Given the description of an element on the screen output the (x, y) to click on. 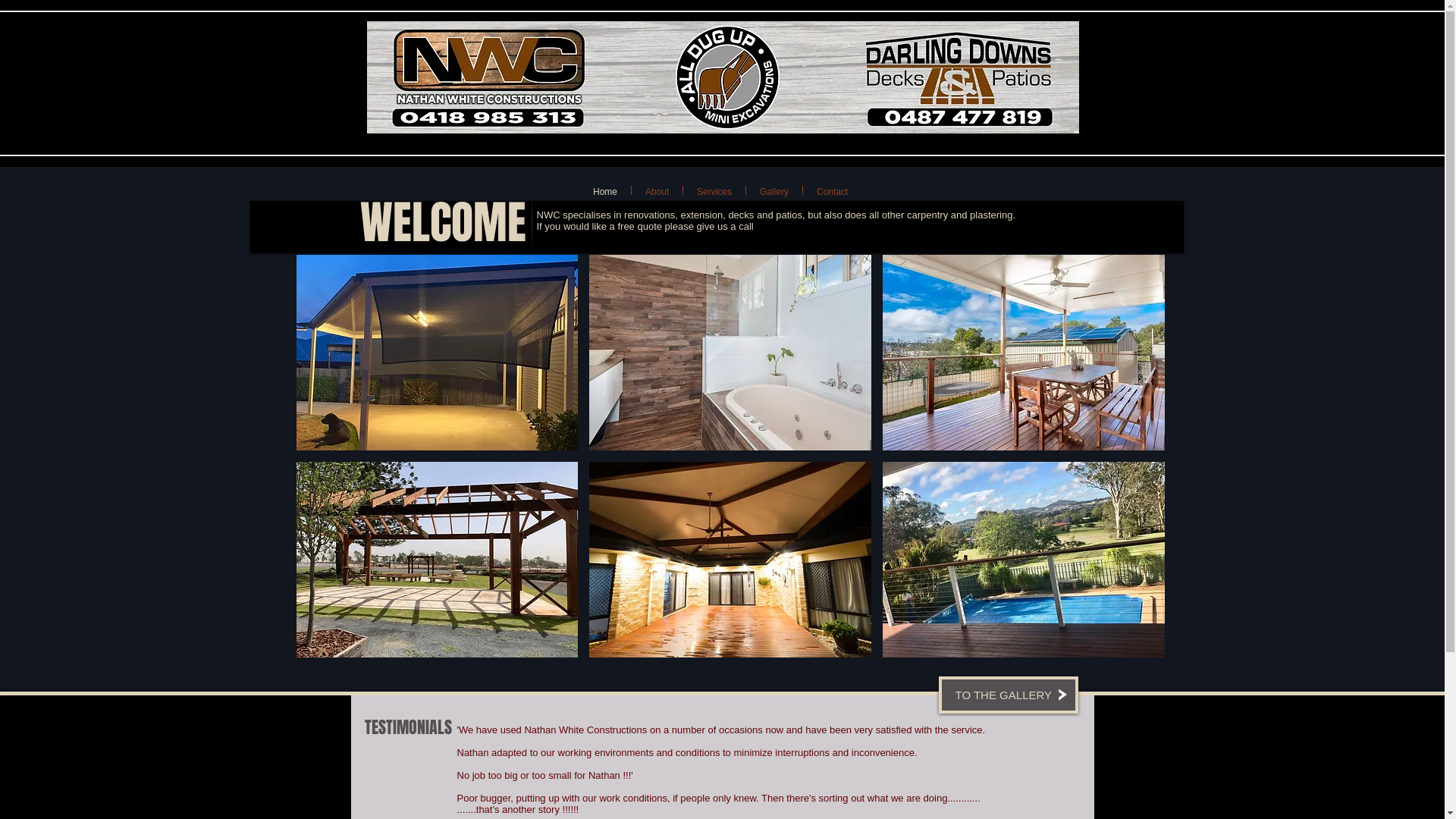
TO THE GALLERY Element type: text (1008, 694)
Gallery Element type: text (774, 189)
NWC All Dug Up DD Decks Web Banner.jpg Element type: hover (723, 77)
Services Element type: text (714, 189)
About Element type: text (656, 189)
Contact Element type: text (832, 189)
Home Element type: text (604, 189)
